Given the description of an element on the screen output the (x, y) to click on. 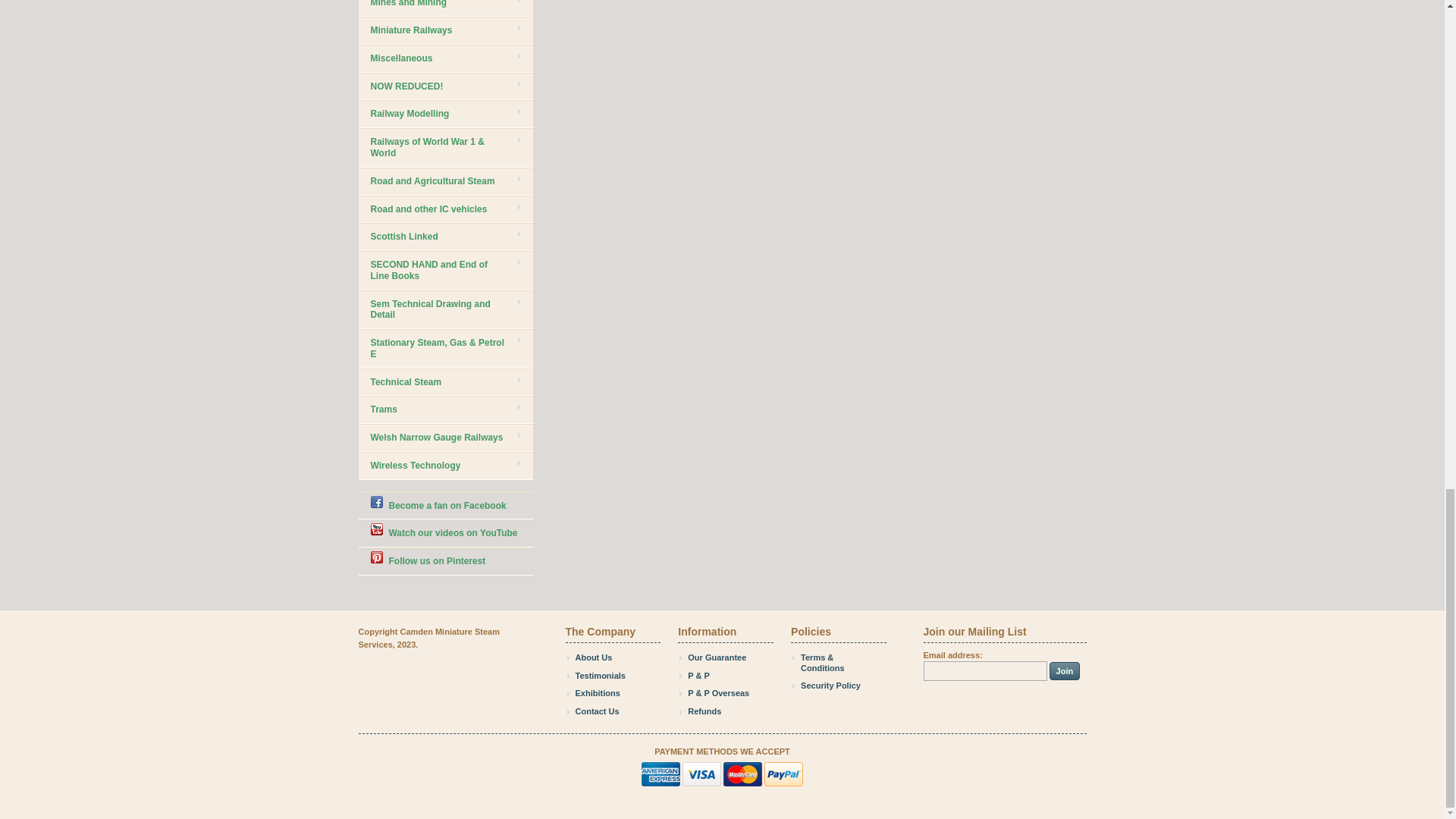
Join (1064, 670)
